Given the description of an element on the screen output the (x, y) to click on. 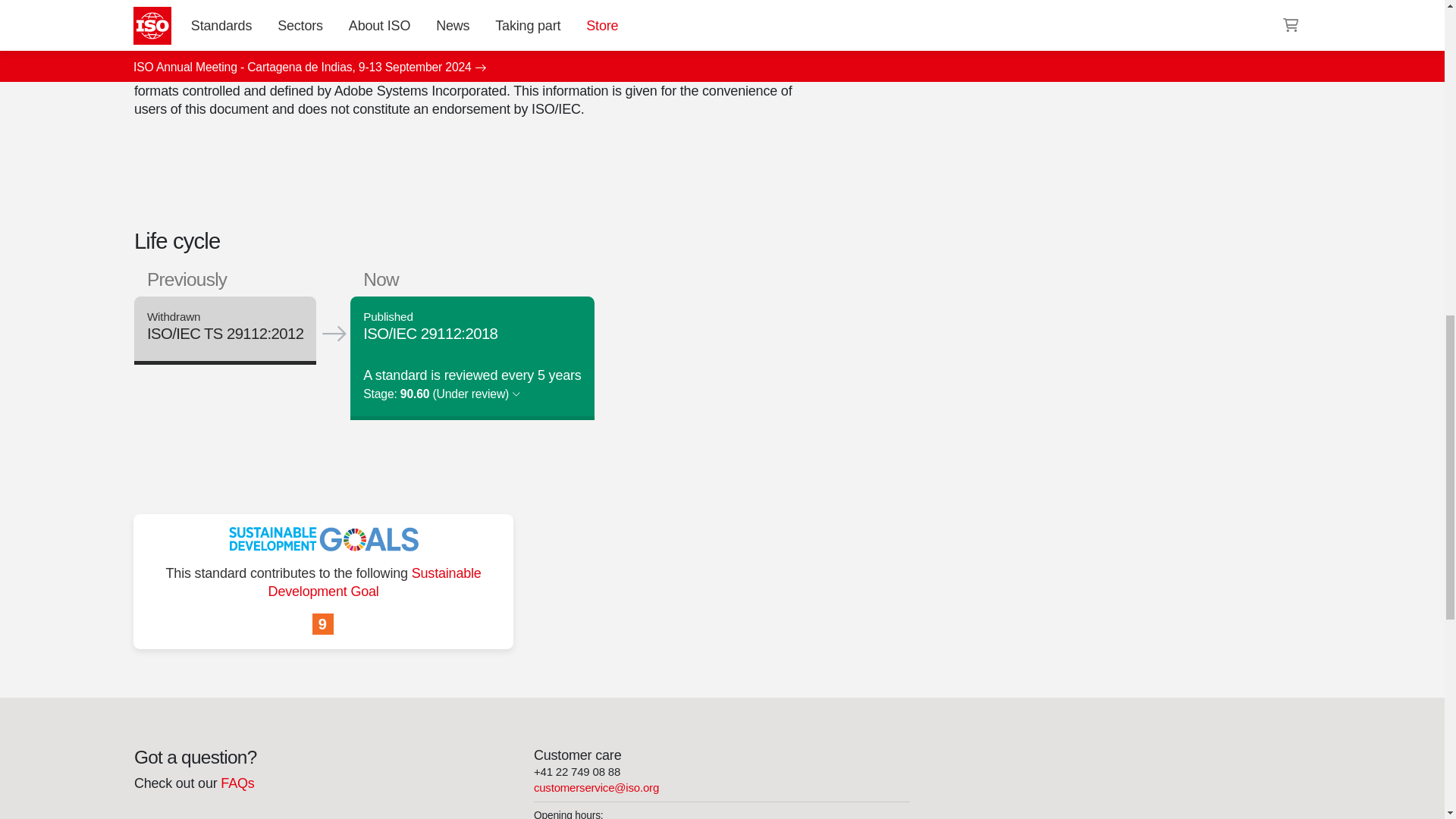
Reproduction equipment (997, 7)
RSS (956, 37)
37.100.10 (997, 7)
